Given the description of an element on the screen output the (x, y) to click on. 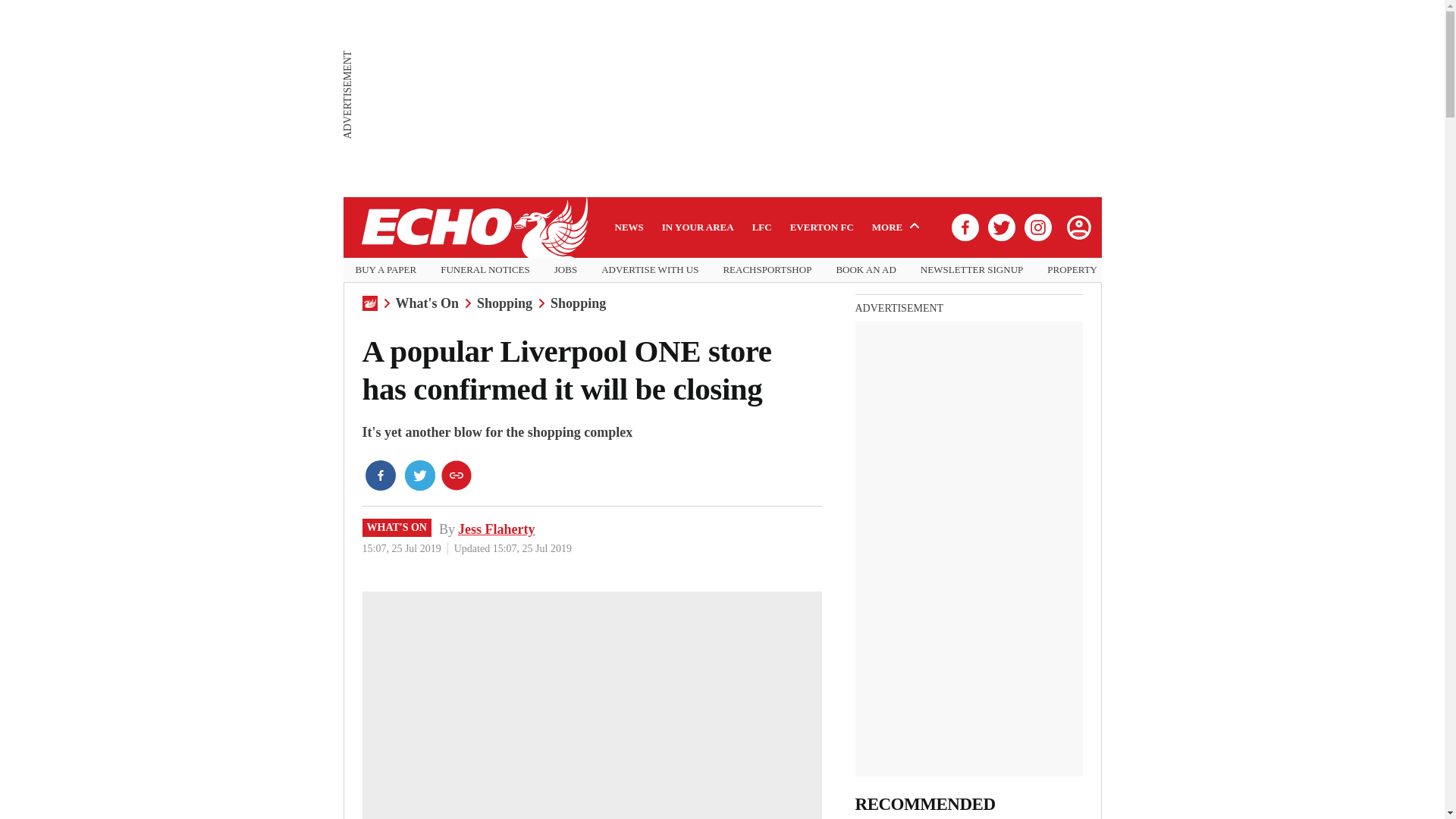
copy link (456, 475)
MORE (897, 227)
Shopping (577, 303)
BUY A PAPER (385, 270)
ADVERTISE WITH US (649, 270)
IN YOUR AREA (697, 227)
avatar (1077, 227)
BOOK AN AD (865, 270)
JOBS (565, 270)
Go to the Liverpool Echo homepage (473, 227)
